Given the description of an element on the screen output the (x, y) to click on. 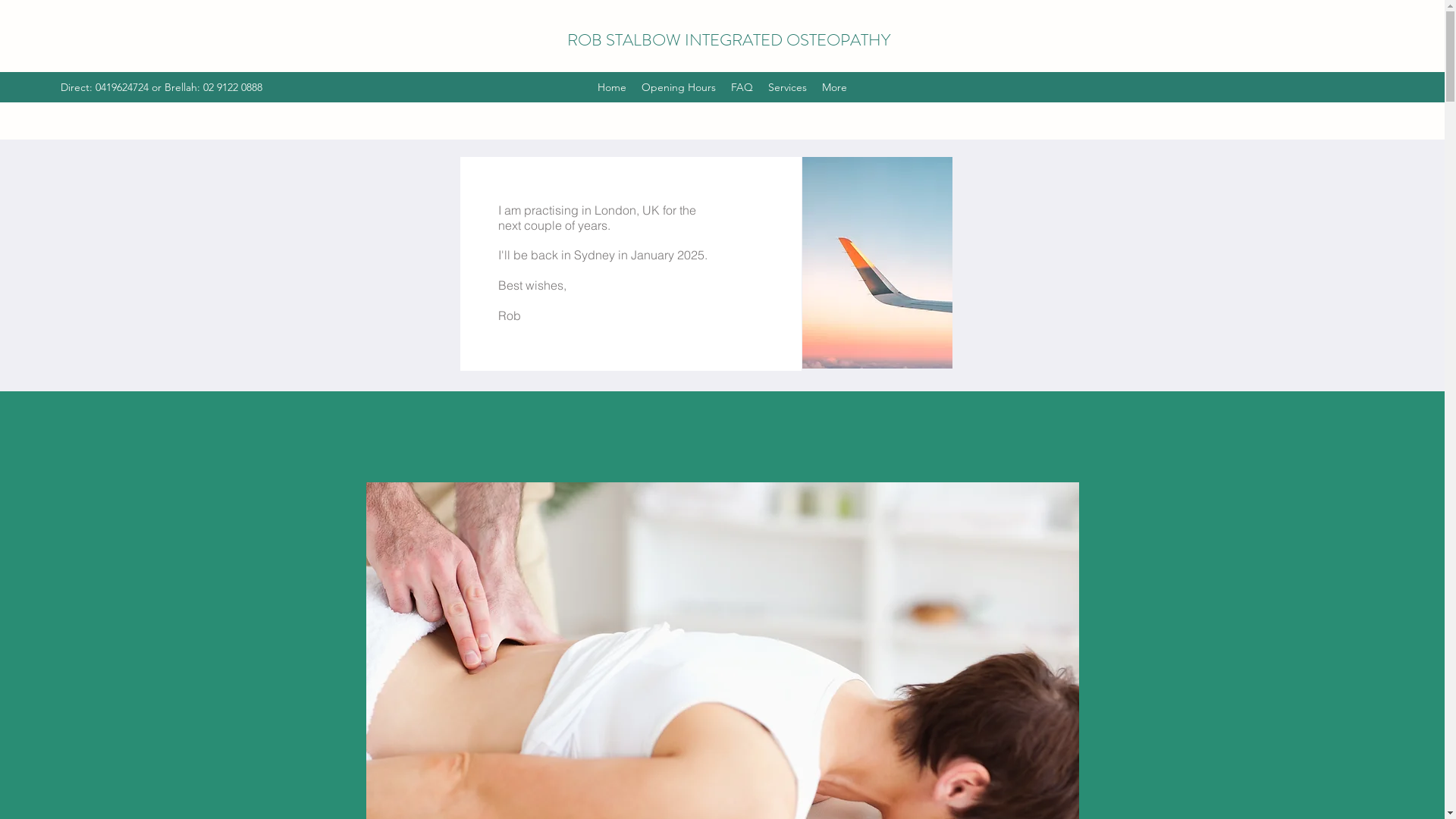
Services Element type: text (787, 86)
FAQ Element type: text (741, 86)
Home Element type: text (611, 86)
Opening Hours Element type: text (678, 86)
ROB STALBOW INTEGRATED OSTEOPATHY Element type: text (728, 39)
